Given the description of an element on the screen output the (x, y) to click on. 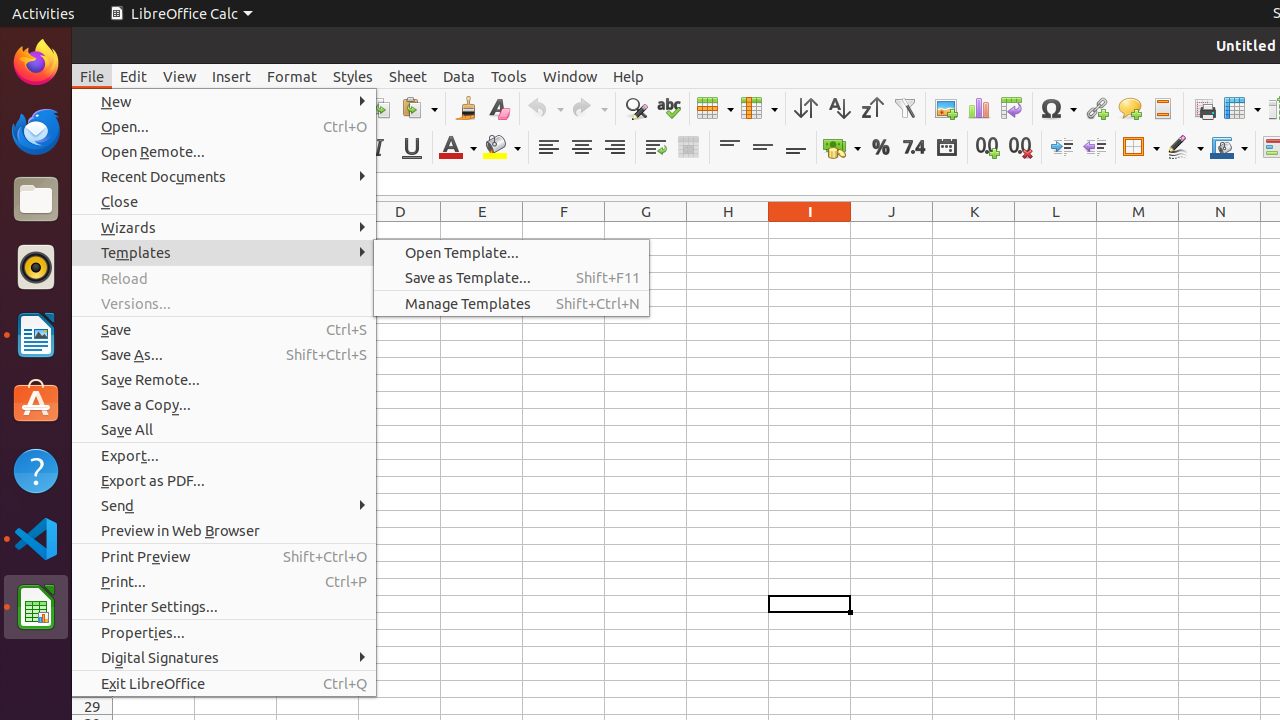
Percent Element type: push-button (880, 147)
Find & Replace Element type: toggle-button (635, 108)
AutoFilter Element type: push-button (904, 108)
Wizards Element type: menu (224, 227)
Center Vertically Element type: push-button (762, 147)
